Given the description of an element on the screen output the (x, y) to click on. 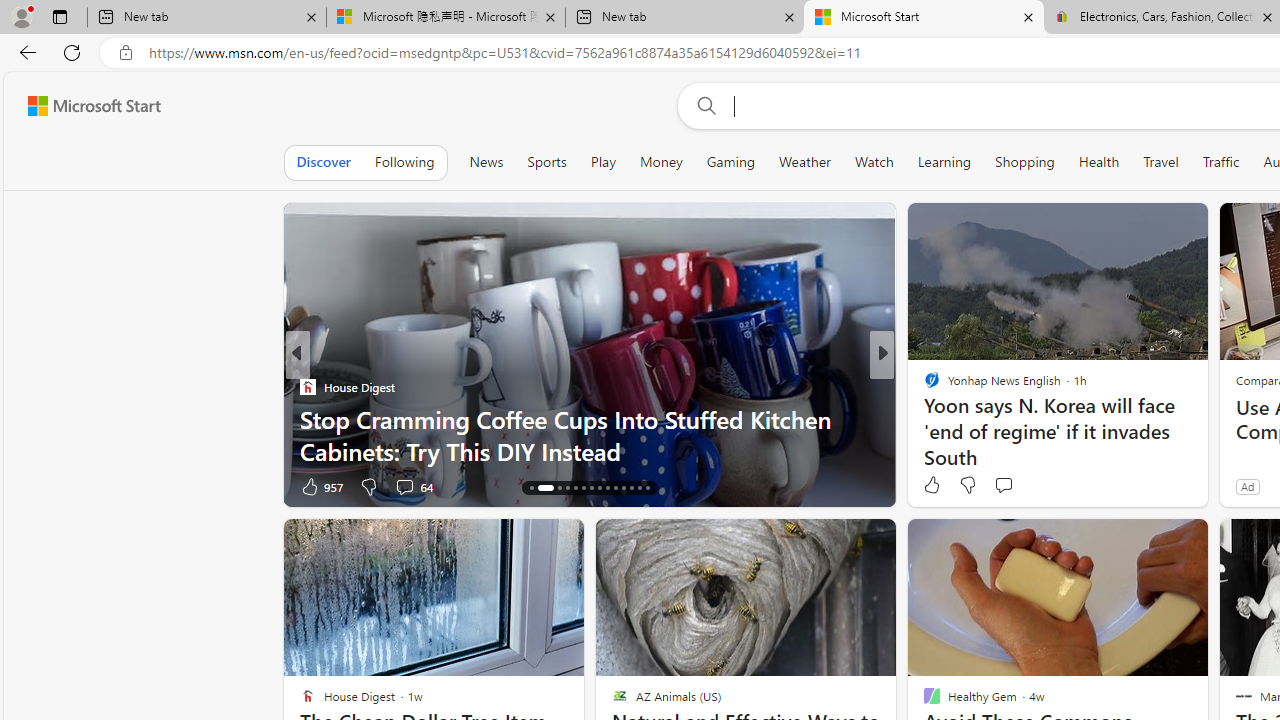
957 Like (320, 486)
